Given the description of an element on the screen output the (x, y) to click on. 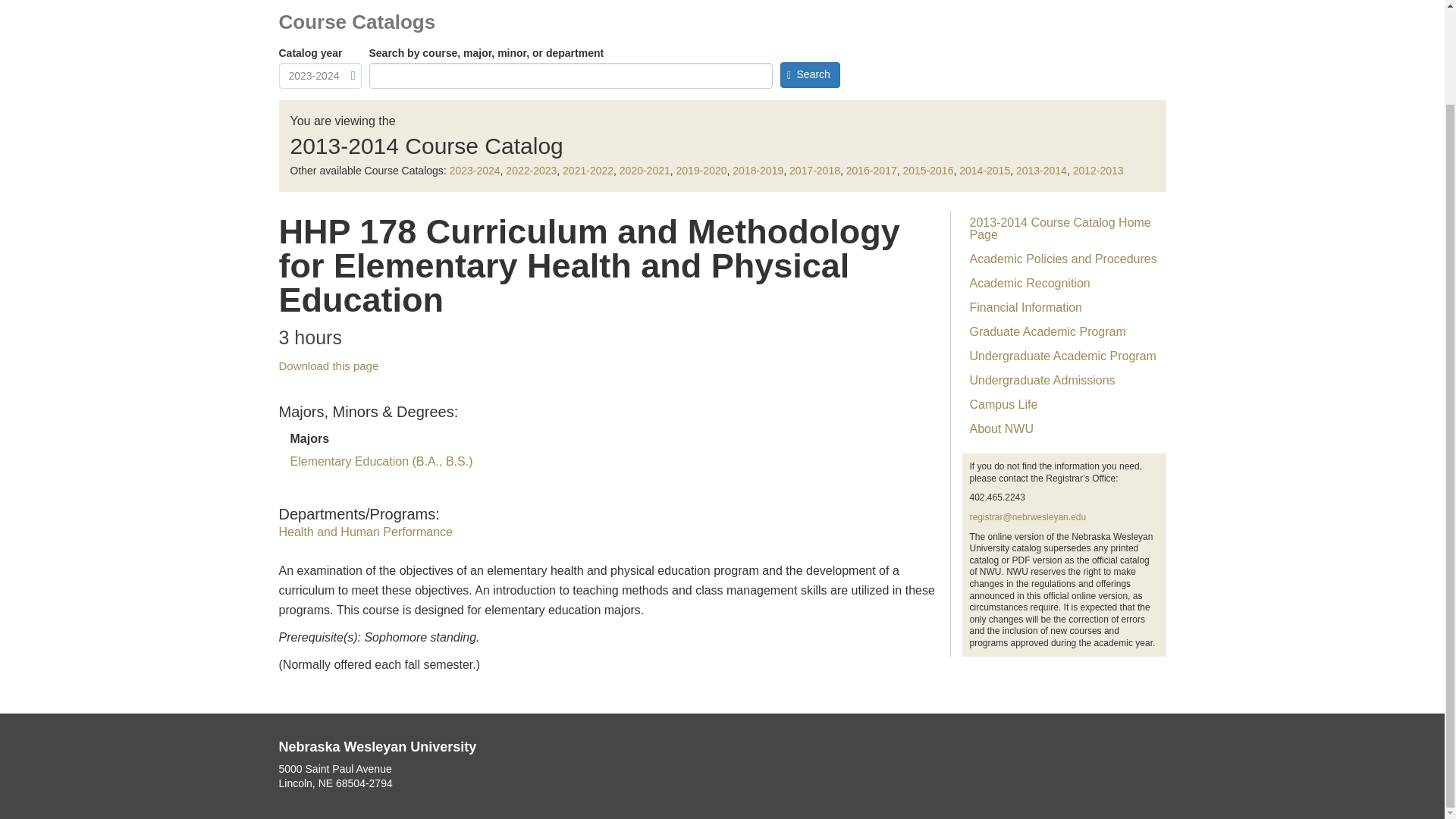
2019-2020 (701, 170)
Undergraduate Admissions (1063, 380)
2013-2014 (1041, 170)
Campus Life (1063, 404)
2017-2018 (814, 170)
2016-2017 (870, 170)
2023-2024 (474, 170)
Download this page (328, 365)
Health and Human Performance (365, 531)
Academic Policies and Procedures (1063, 259)
2012-2013 (1098, 170)
2021-2022 (587, 170)
2022-2023 (530, 170)
Search (809, 74)
2013-2014 Course Catalog Home Page (1063, 228)
